Given the description of an element on the screen output the (x, y) to click on. 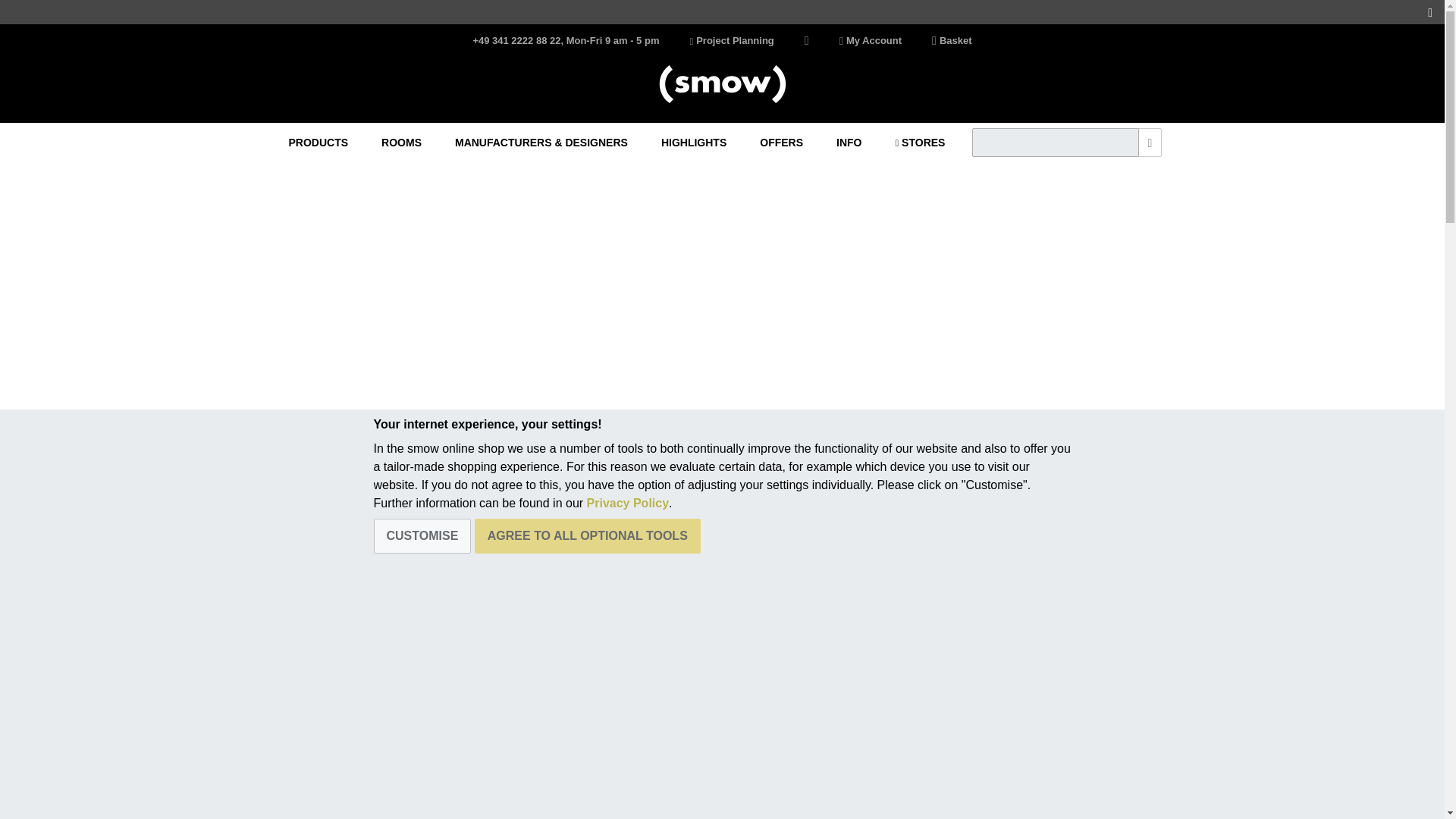
PRODUCTS (317, 142)
INFO (848, 142)
Project Planning (730, 40)
CUSTOMISE (421, 535)
AGREE TO ALL OPTIONAL TOOLS (587, 535)
Privacy Policy (627, 502)
ROOMS (401, 142)
STORES (920, 142)
My Account (870, 40)
Basket (951, 40)
